Given the description of an element on the screen output the (x, y) to click on. 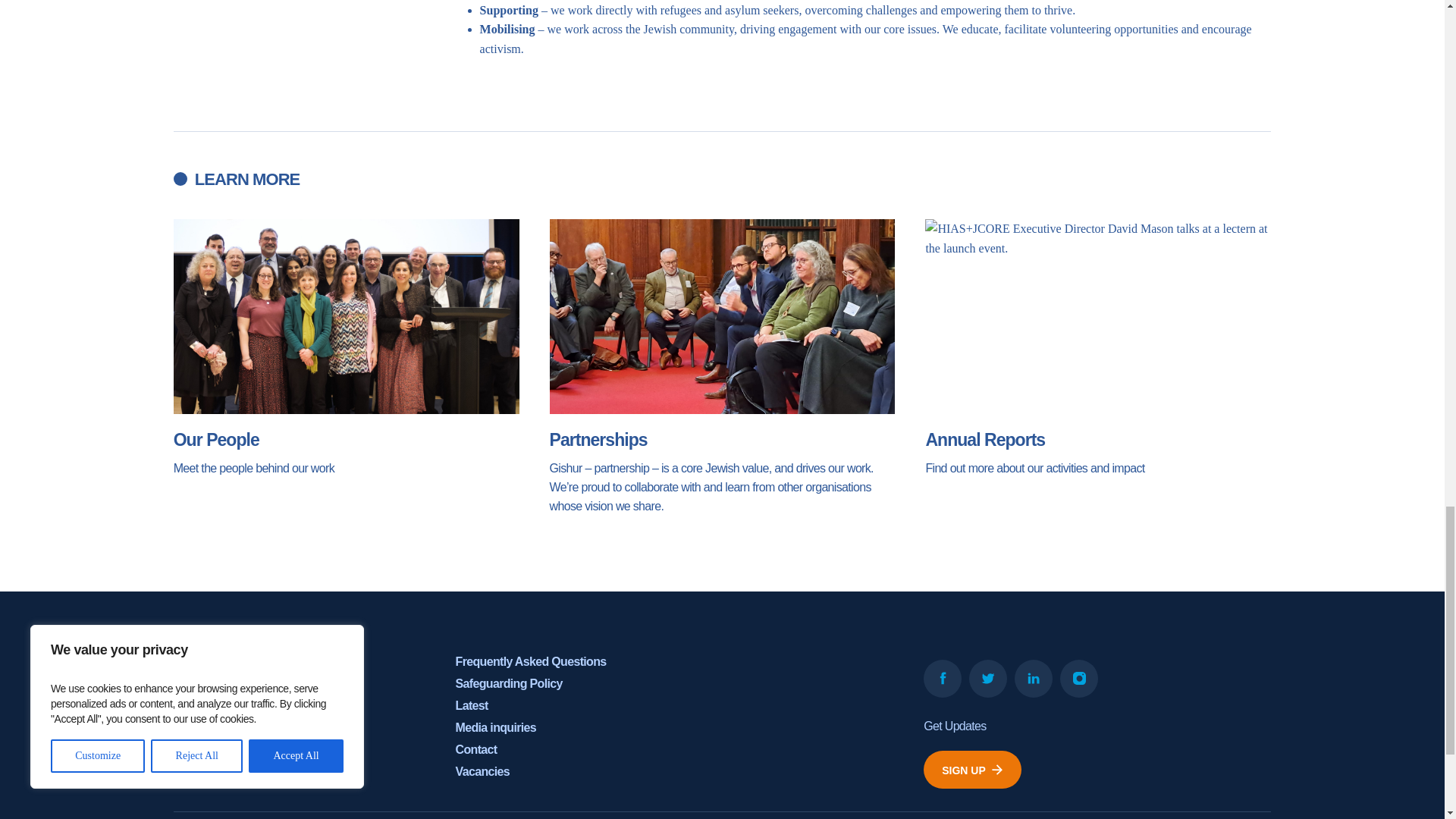
Our People (346, 347)
Partnerships (722, 367)
Annual Reports (1097, 347)
